Given the description of an element on the screen output the (x, y) to click on. 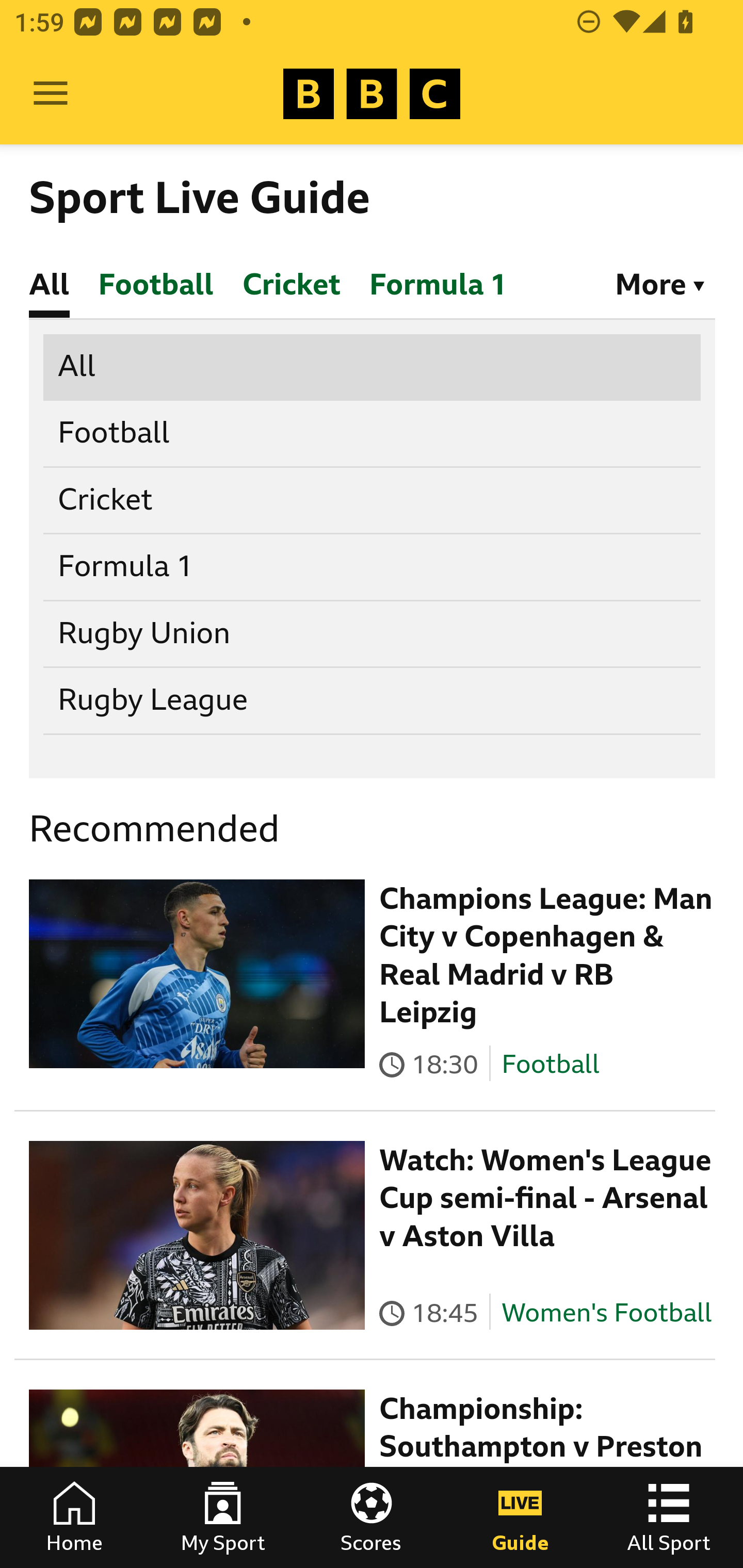
Open Menu (50, 93)
All (372, 366)
Football (372, 434)
Cricket (372, 499)
Formula 1 (372, 567)
Rugby Union (372, 632)
Rugby League (372, 699)
Football (550, 1062)
Women's Football (606, 1312)
Home (74, 1517)
My Sport (222, 1517)
Scores (371, 1517)
All Sport (668, 1517)
